Given the description of an element on the screen output the (x, y) to click on. 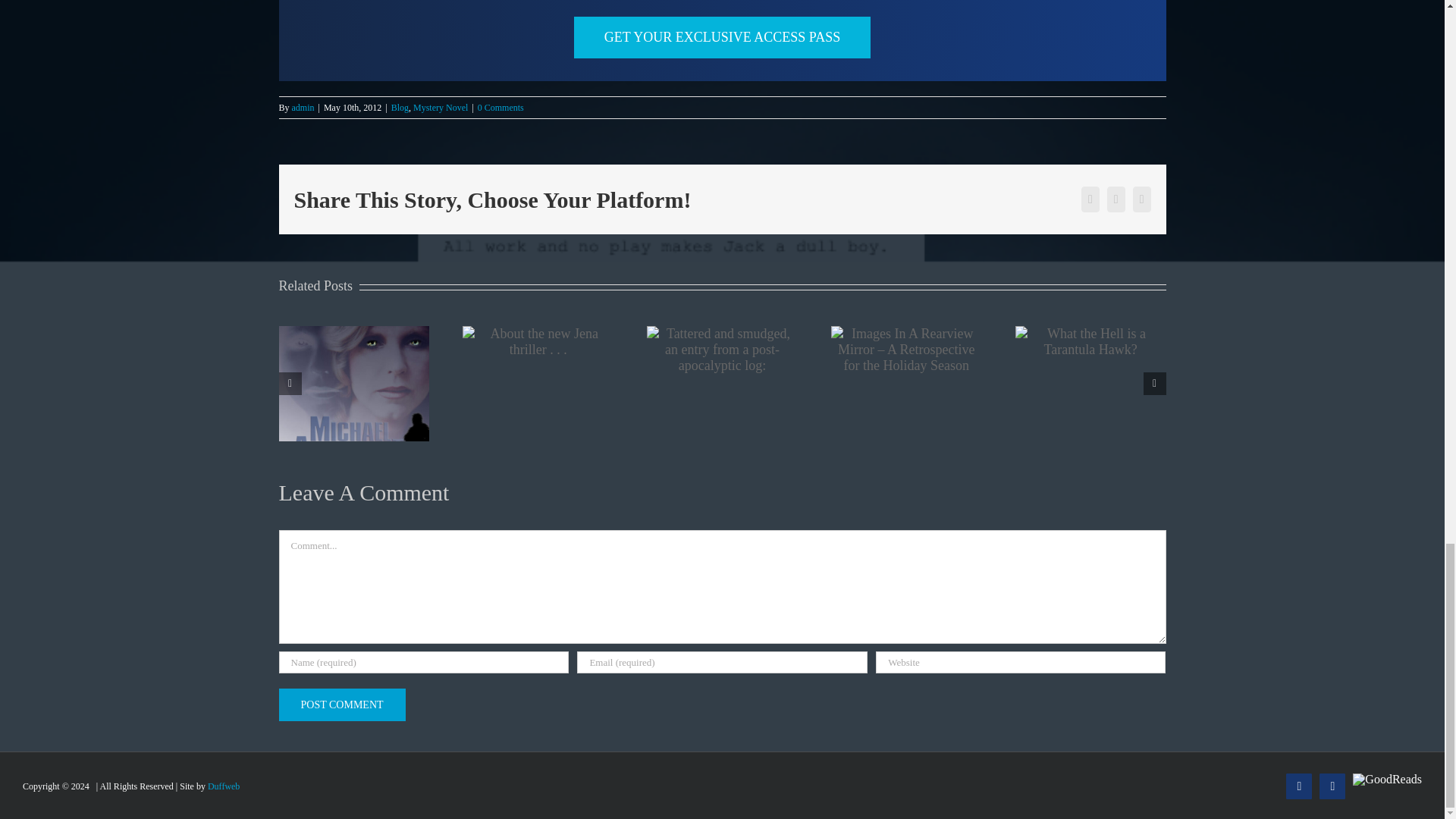
admin (303, 107)
Posts by admin (303, 107)
GET YOUR EXCLUSIVE ACCESS PASS (722, 40)
GoodReads (1387, 779)
Post Comment (342, 704)
Twitter (1332, 786)
Blog (400, 107)
GET YOUR EXCLUSIVE ACCESS PASS (721, 37)
Facebook (1298, 786)
